Given the description of an element on the screen output the (x, y) to click on. 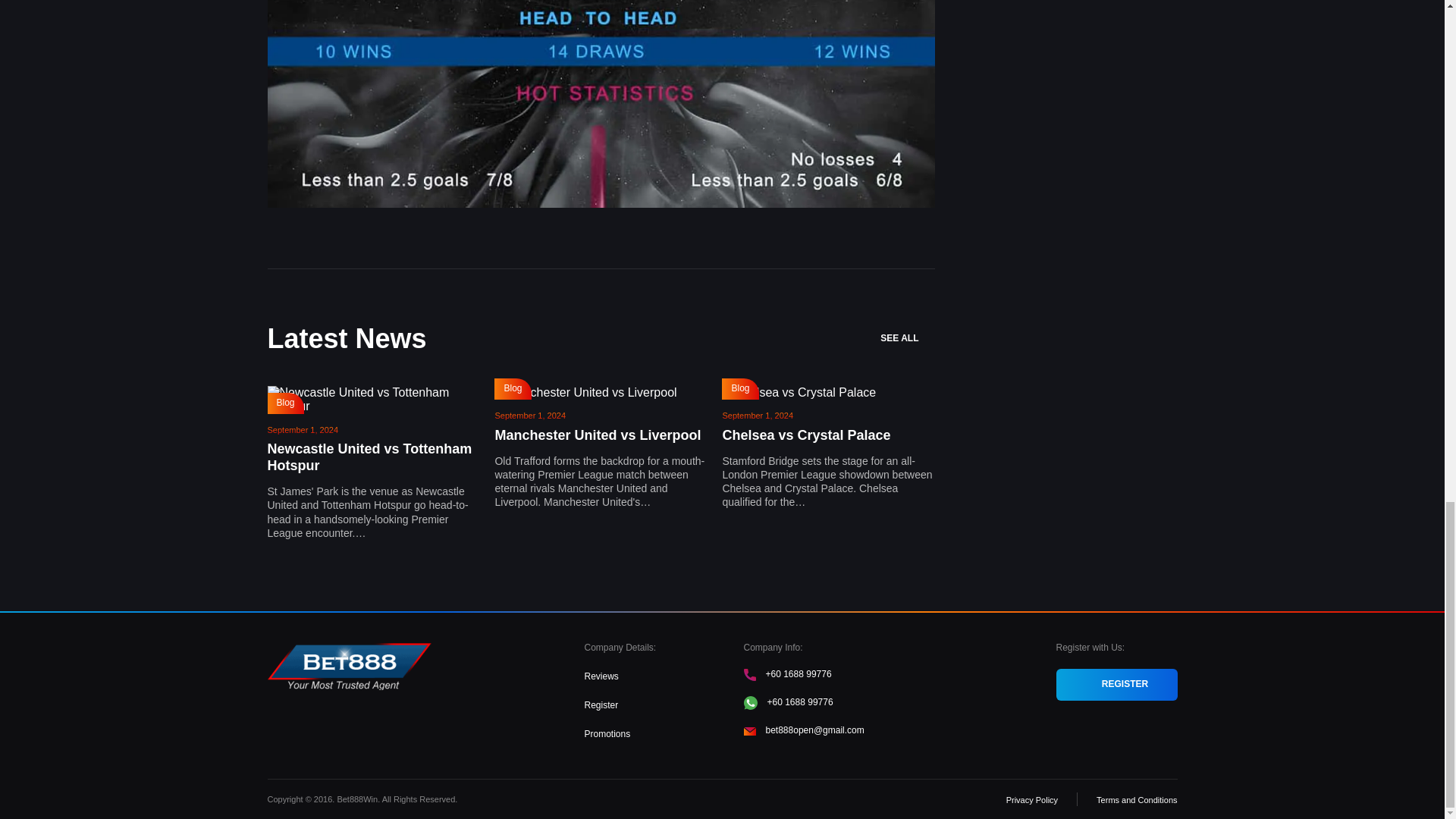
Terms and Conditions (1136, 799)
REGISTER (1115, 685)
Manchester United vs Liverpool (597, 435)
Register (600, 705)
Chelsea vs Crystal Palace (805, 435)
SEE ALL (907, 338)
Promotions (606, 733)
Privacy Policy (1032, 799)
Newcastle United vs Tottenham Hotspur (368, 457)
Reviews (600, 675)
